Given the description of an element on the screen output the (x, y) to click on. 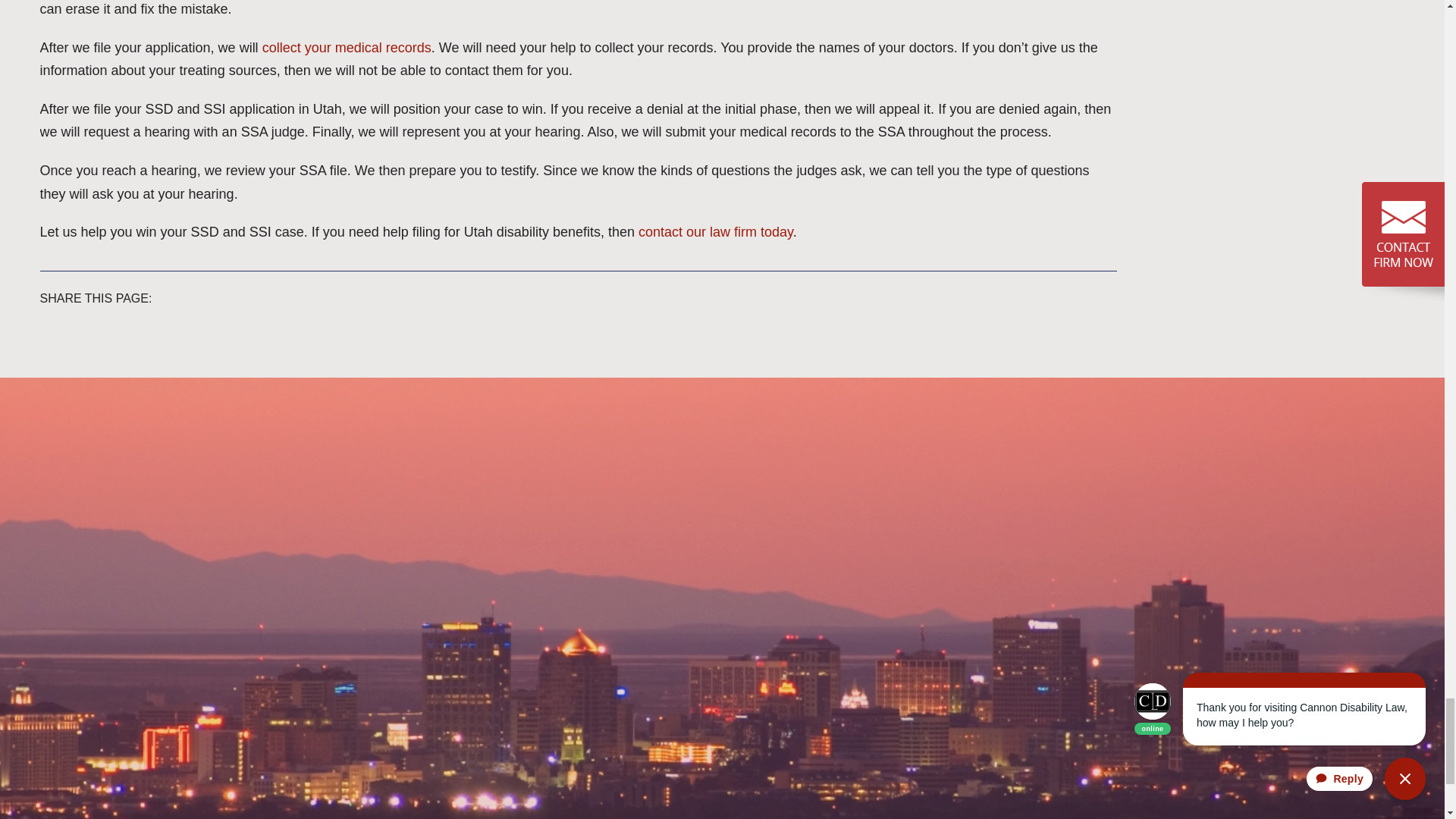
Facebook (276, 296)
Twitter (287, 296)
LinkedIn (298, 296)
